Given the description of an element on the screen output the (x, y) to click on. 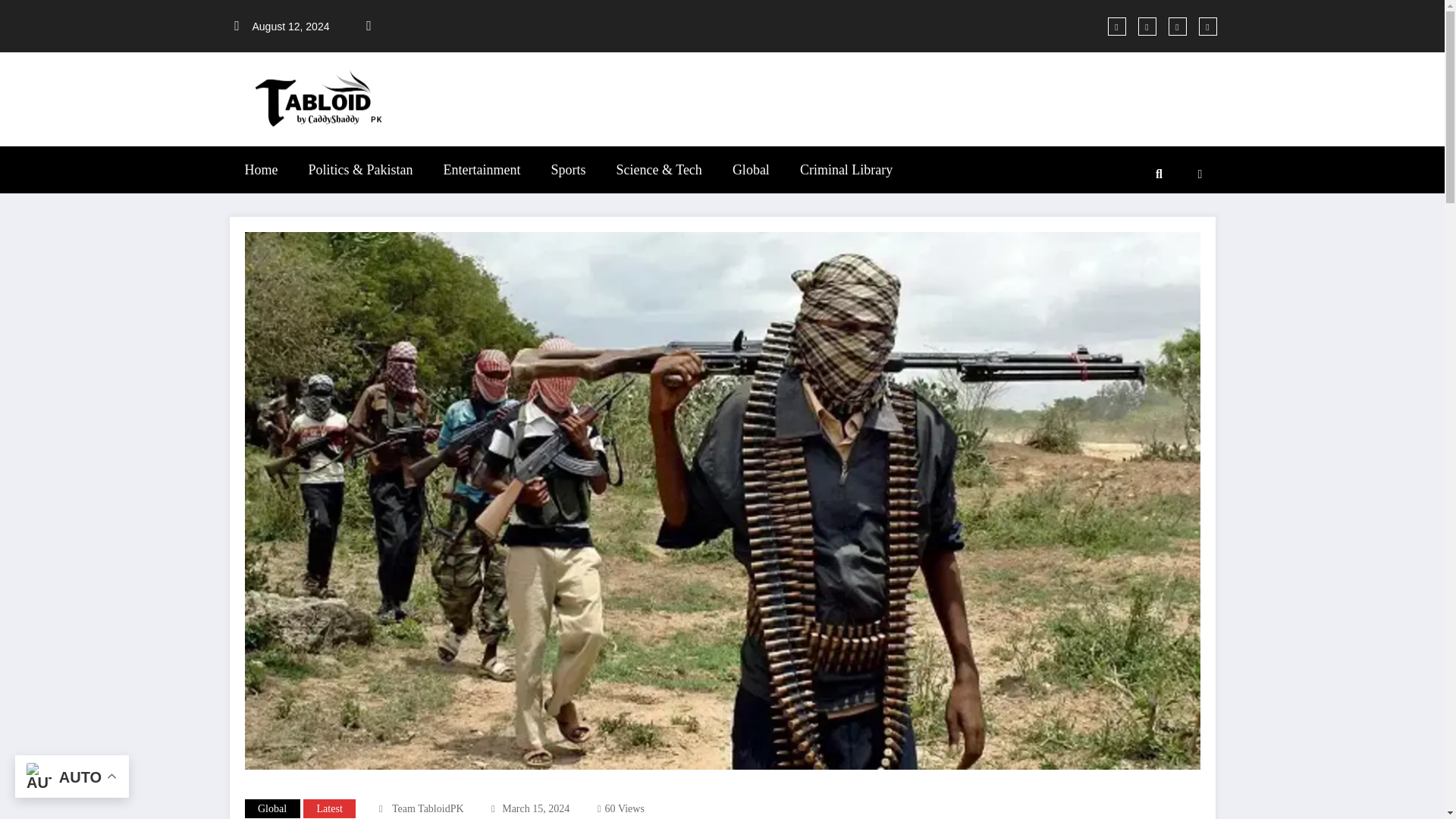
linkedin-in (1176, 26)
Latest (328, 808)
Global (271, 808)
facebook-f (1115, 26)
Posts by Team TabloidPK (427, 808)
Search (1157, 173)
Sports (567, 169)
Criminal Library (845, 169)
Team TabloidPK (427, 808)
Entertainment (481, 169)
